Given the description of an element on the screen output the (x, y) to click on. 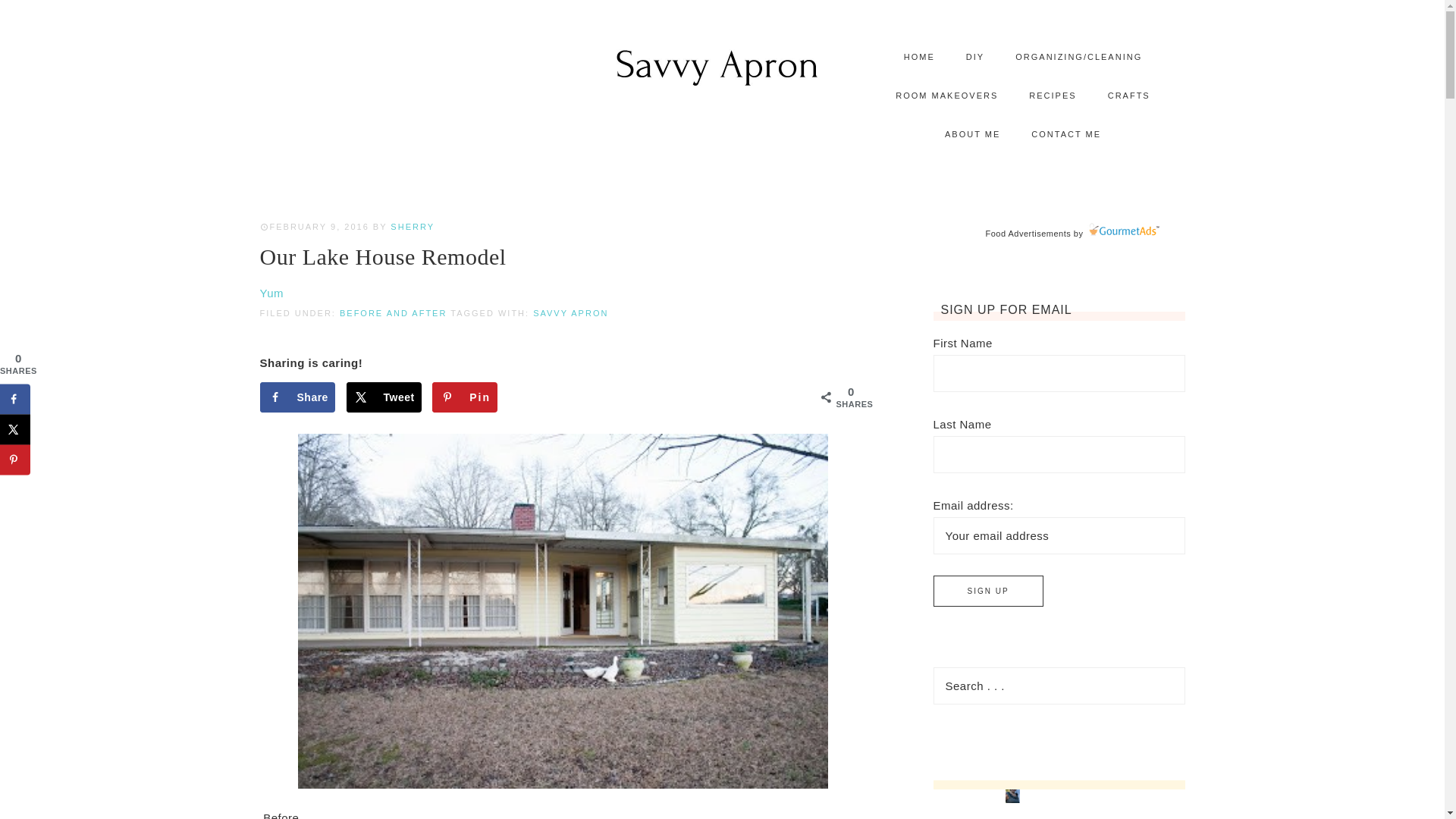
Save to Pinterest (15, 459)
ABOUT ME (972, 134)
Share (296, 397)
SHERRY (411, 225)
Pin (464, 397)
RECIPES (1051, 95)
Sign up (987, 590)
Share on Facebook (296, 397)
Share on X (15, 429)
Yum (271, 292)
